Given the description of an element on the screen output the (x, y) to click on. 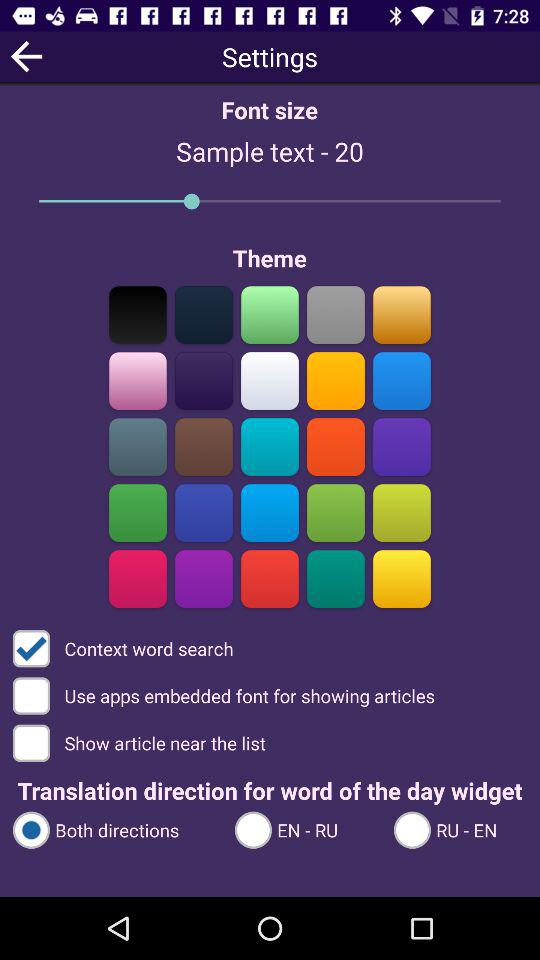
choose theme (401, 314)
